Given the description of an element on the screen output the (x, y) to click on. 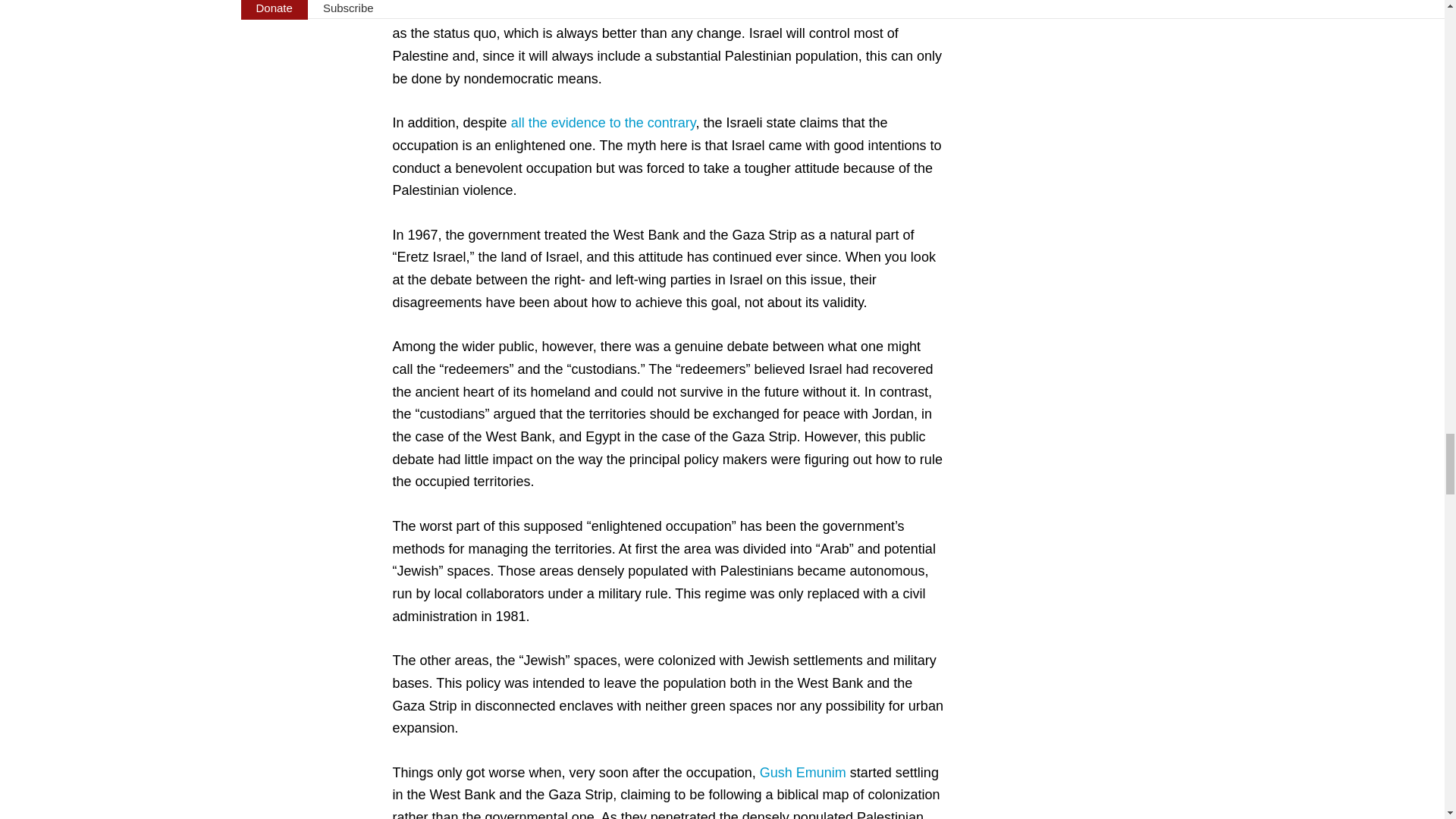
all the evidence (558, 122)
to the contrary (652, 122)
